Given the description of an element on the screen output the (x, y) to click on. 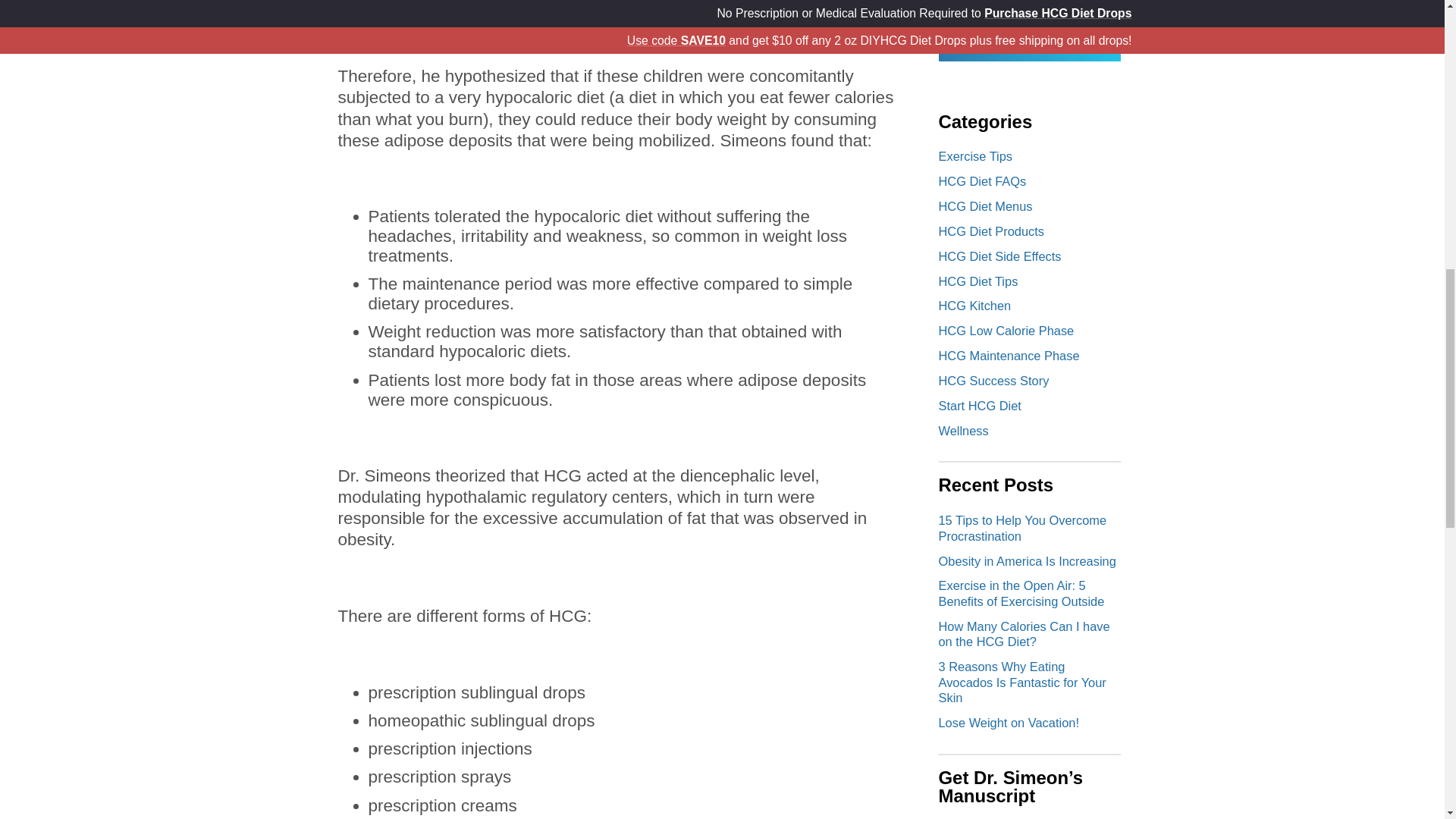
HCG Diet FAQs (982, 181)
HCG Kitchen (1030, 30)
Wellness (975, 305)
HCG Low Calorie Phase (963, 430)
Start HCG Diet (1006, 330)
HCG Maintenance Phase (980, 405)
HCG Success Story (1009, 355)
Exercise Tips (994, 380)
HCG Diet Menus (976, 155)
